Given the description of an element on the screen output the (x, y) to click on. 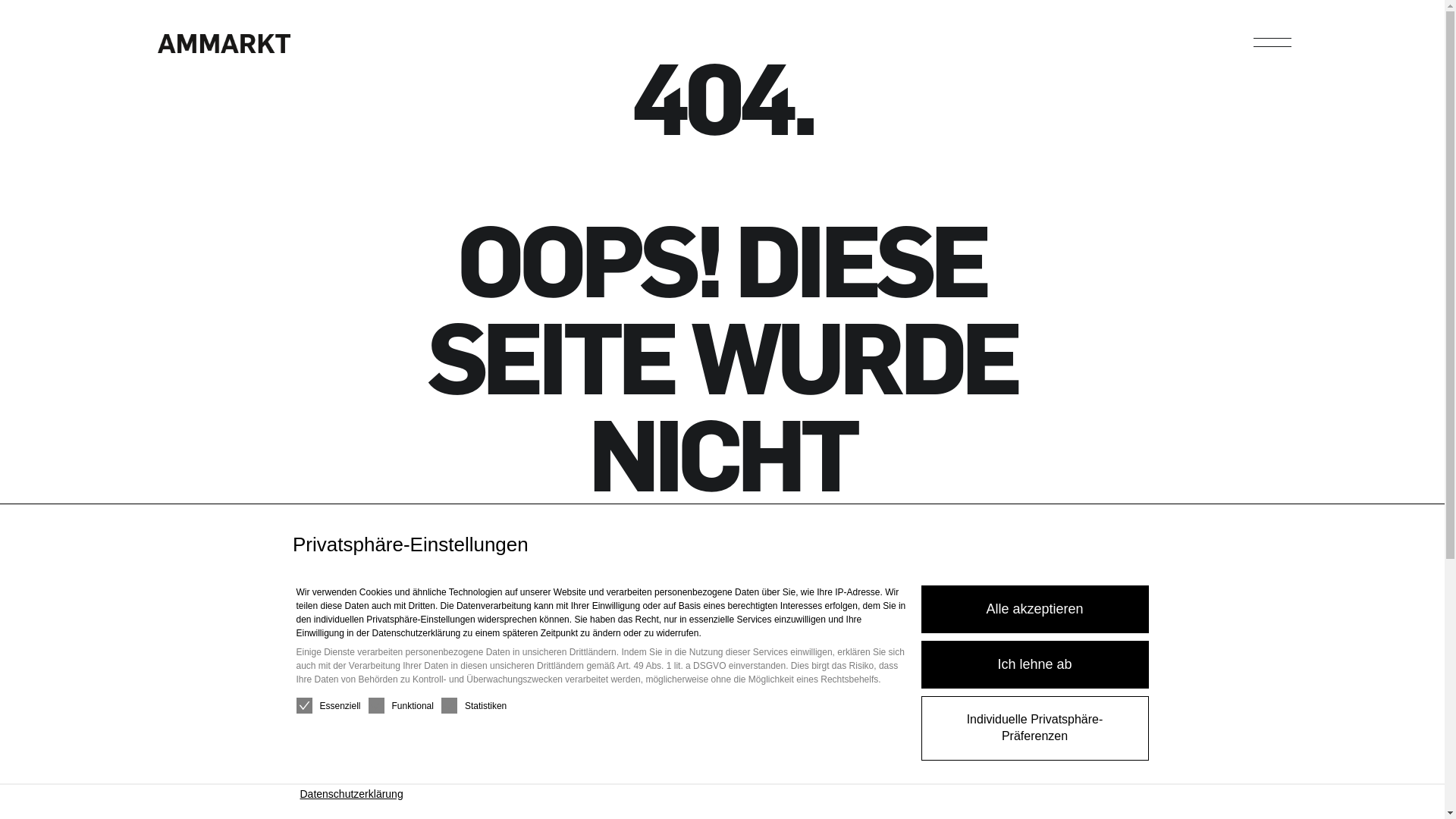
Ich lehne ab Element type: text (1034, 664)
zur Startseite Element type: text (721, 732)
Zu Einwilligungsoptionen springen Element type: text (0, 504)
AMMARKT Startseite Element type: hover (223, 49)
Alle akzeptieren Element type: text (1034, 609)
